Given the description of an element on the screen output the (x, y) to click on. 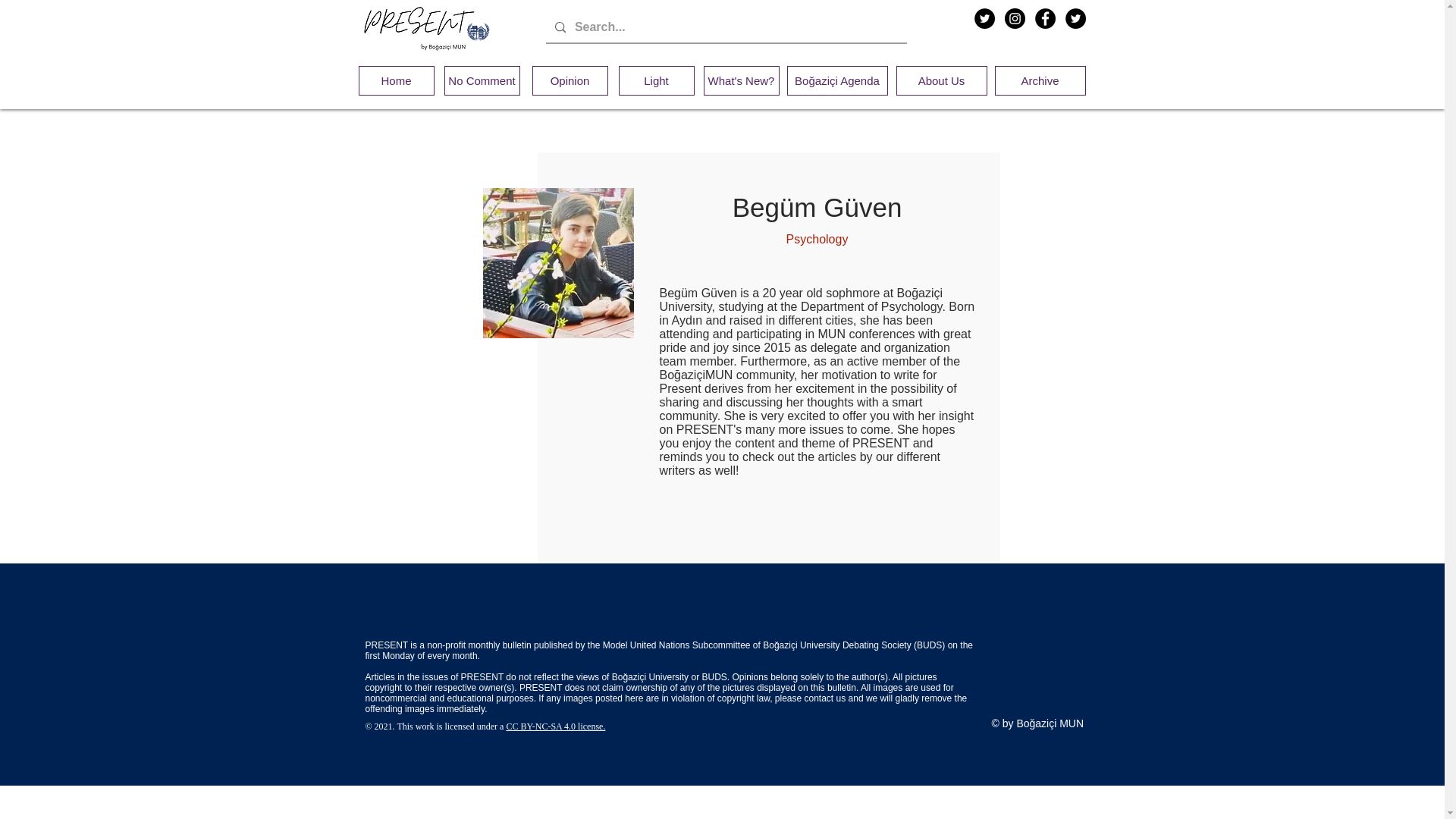
Archive (1040, 80)
CC BY-NC-SA 4.0 license. (555, 726)
Opinion (570, 80)
WhatsApp Image 2020-08-02 at 11.28.12.jp (557, 263)
About Us (941, 80)
No Comment (481, 80)
Home (395, 80)
Light (656, 80)
What's New? (740, 80)
